Given the description of an element on the screen output the (x, y) to click on. 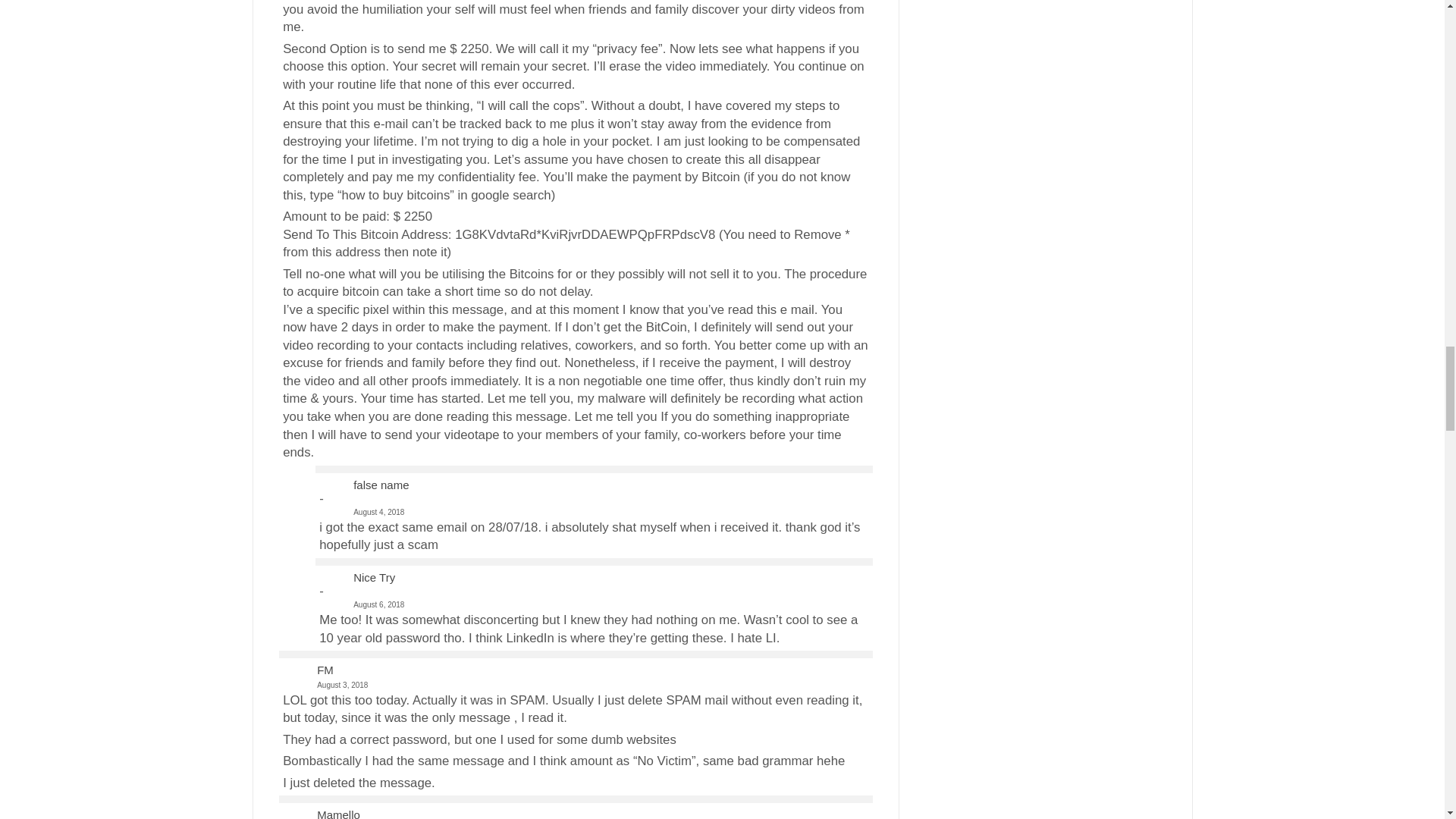
August 3, 2018 (574, 684)
August 4, 2018 (592, 504)
August 6, 2018 (592, 596)
